Given the description of an element on the screen output the (x, y) to click on. 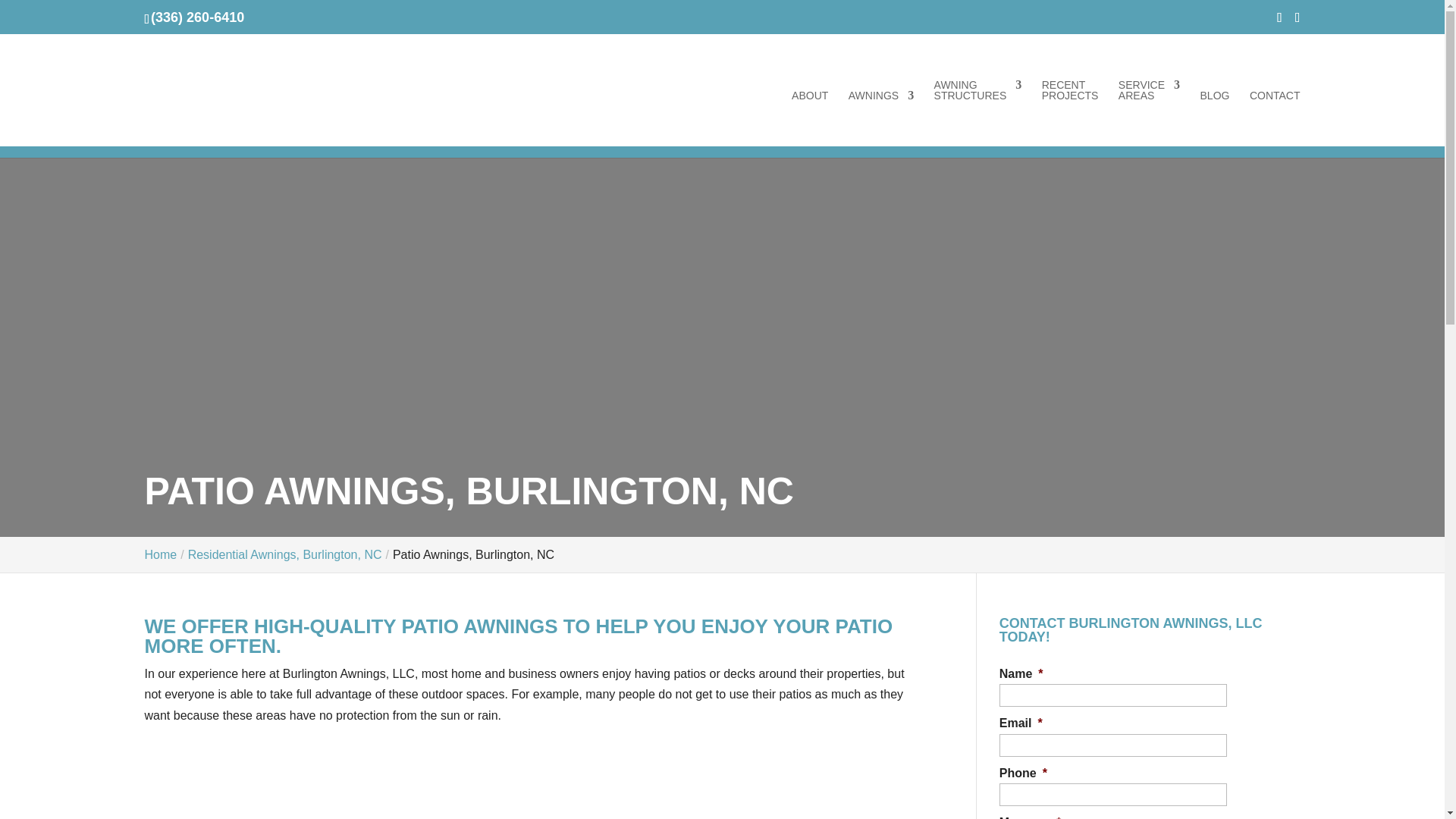
Go to Residential Awnings, Burlington, NC. (284, 554)
Go to Burlington Awnings, LLC. (160, 554)
AWNINGS (881, 118)
